Given the description of an element on the screen output the (x, y) to click on. 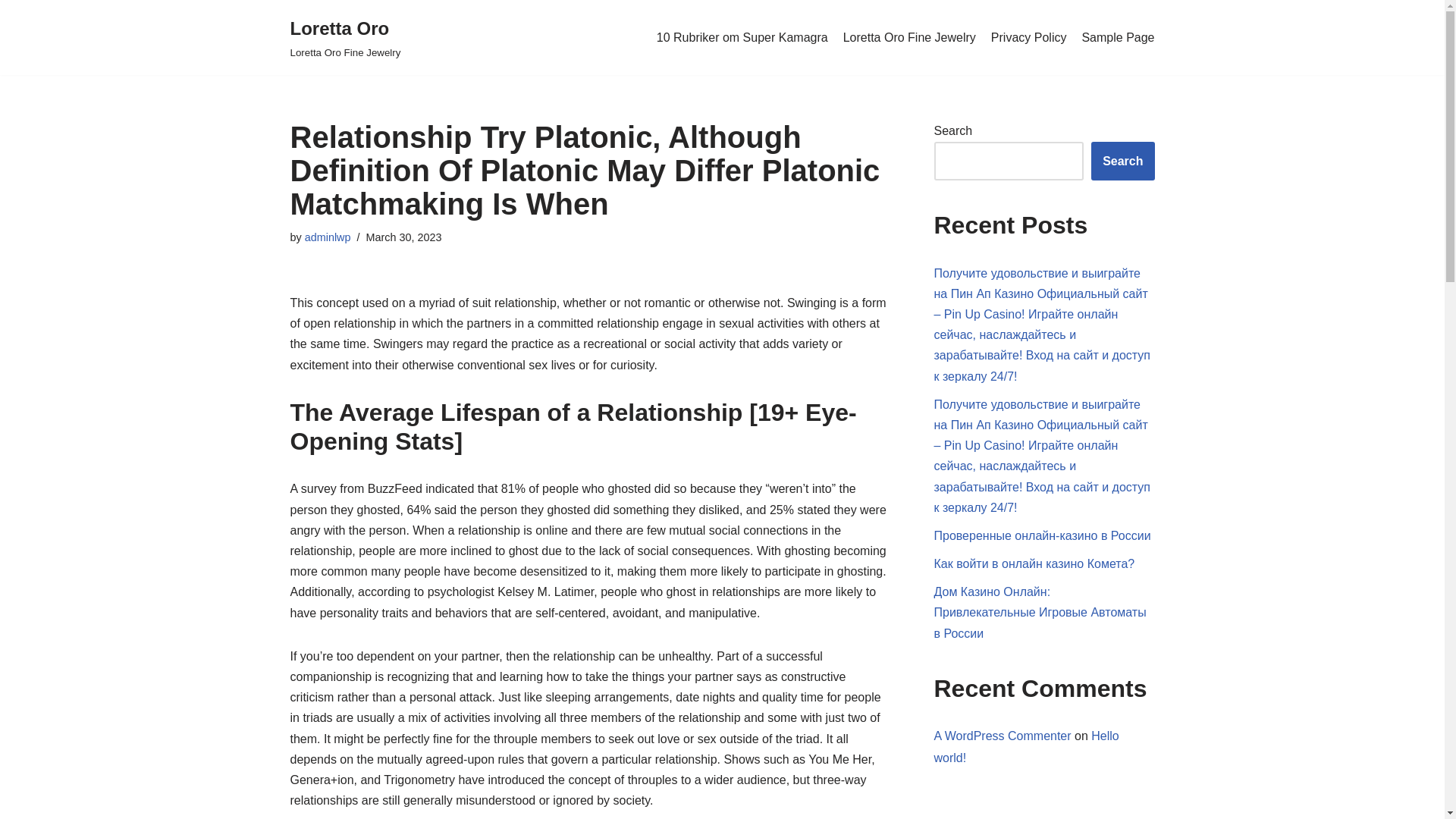
Sample Page (1117, 37)
A WordPress Commenter (1002, 735)
Hello world! (1026, 746)
Loretta Oro Fine Jewelry (344, 37)
Search (909, 37)
adminlwp (1122, 160)
10 Rubriker om Super Kamagra (327, 236)
Posts by adminlwp (742, 37)
Loretta Oro (327, 236)
